Given the description of an element on the screen output the (x, y) to click on. 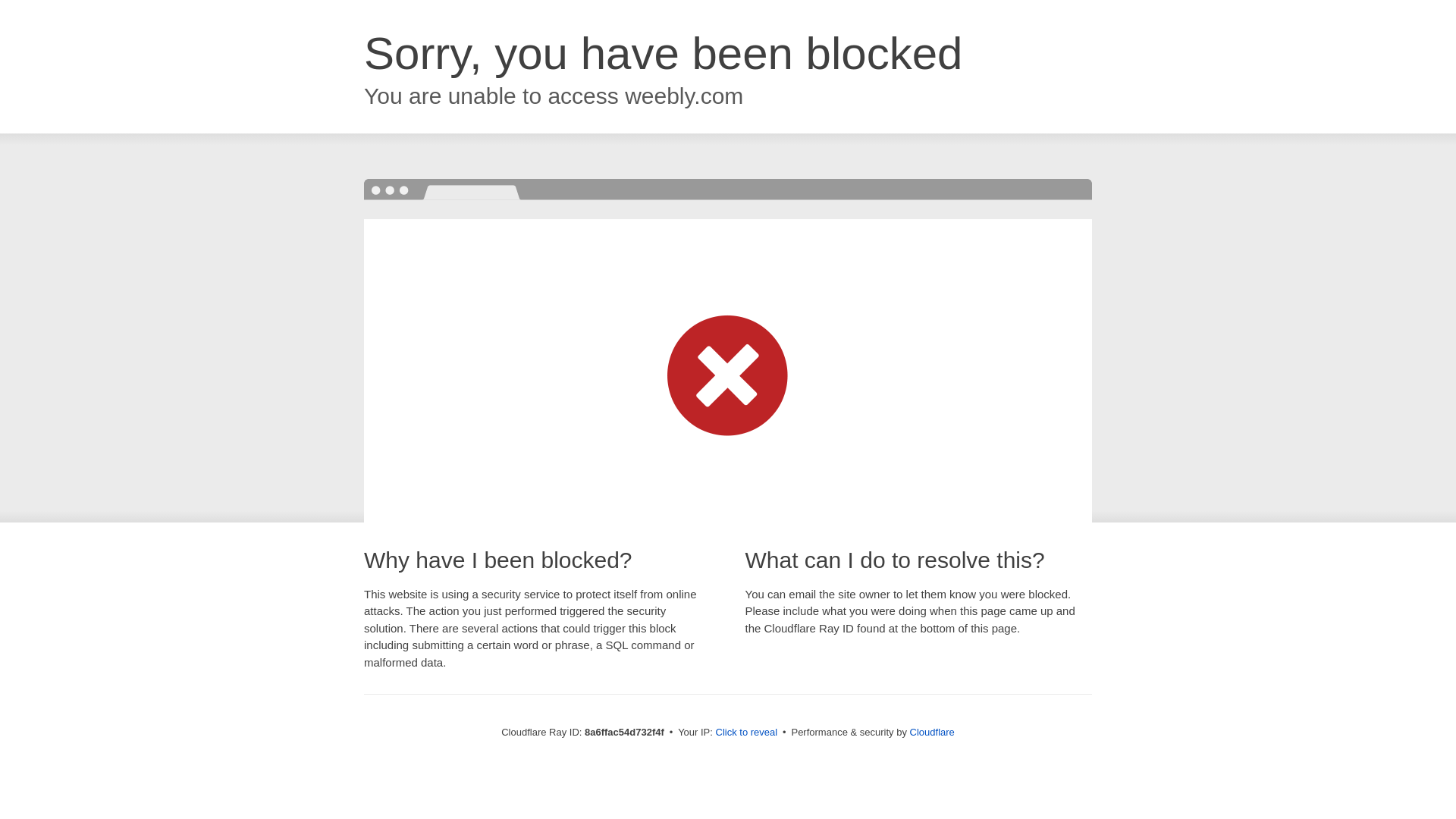
Cloudflare (932, 731)
Click to reveal (746, 732)
